Given the description of an element on the screen output the (x, y) to click on. 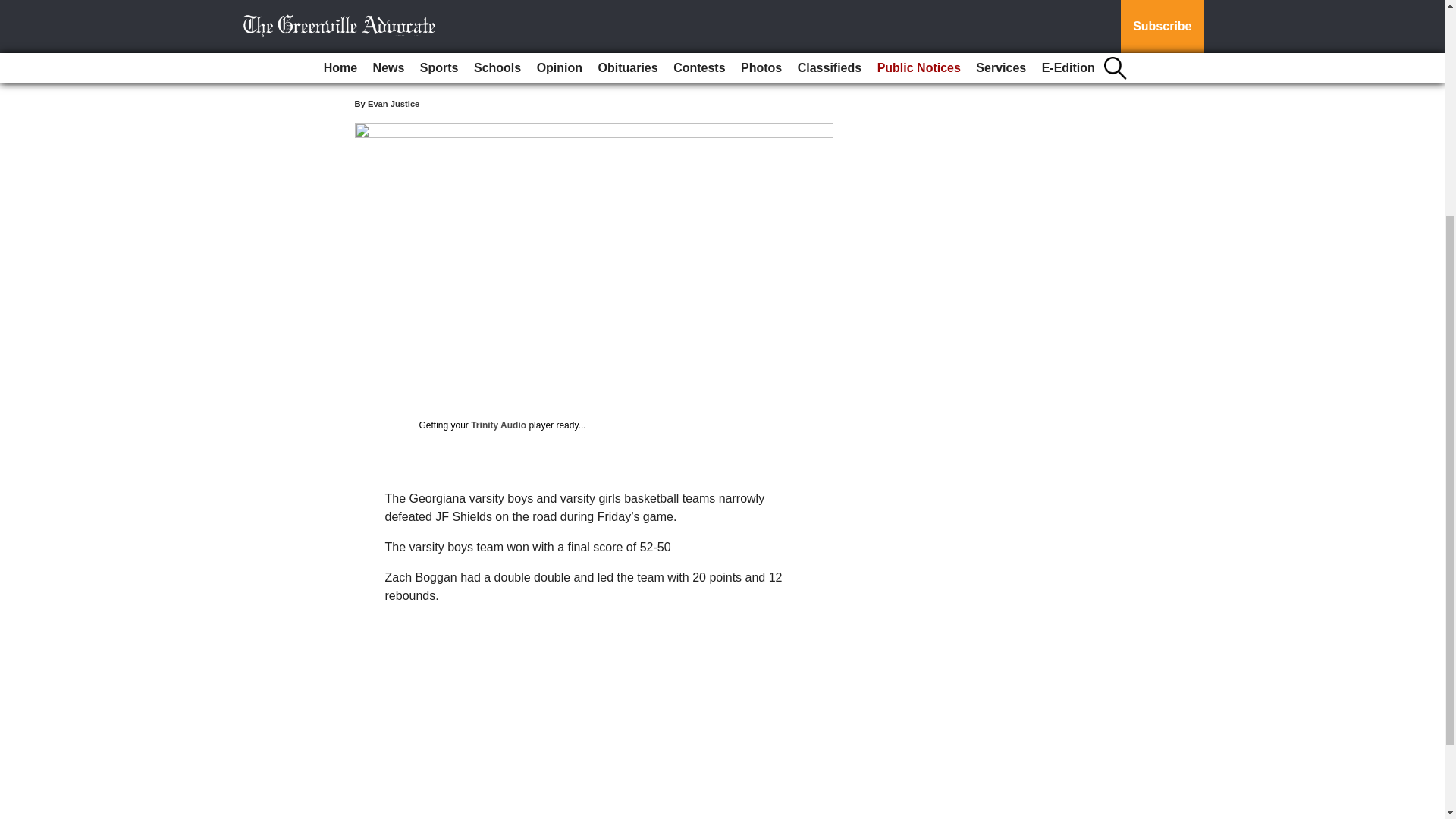
Trinity Audio (497, 425)
Evan Justice (393, 103)
